Given the description of an element on the screen output the (x, y) to click on. 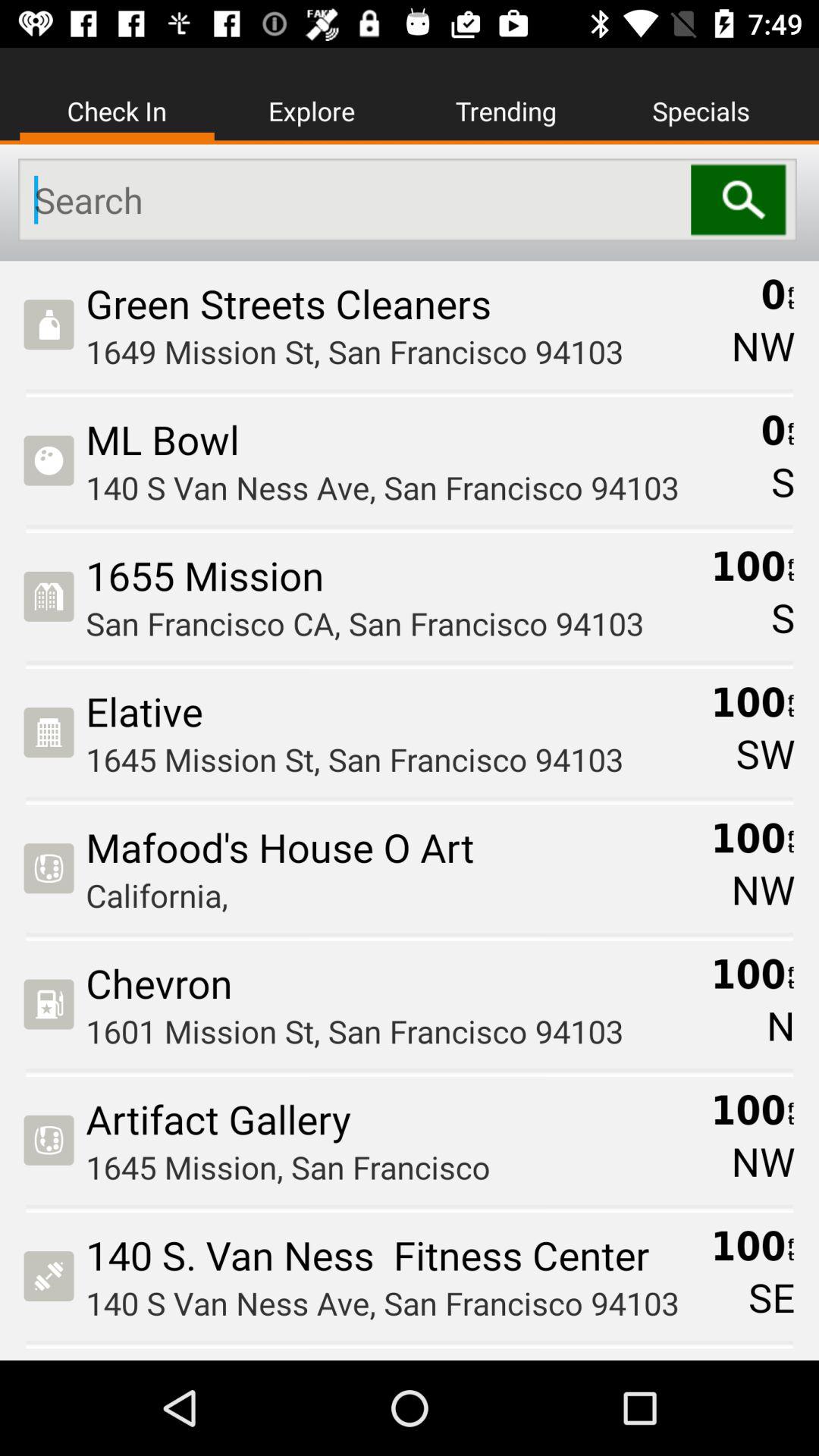
press the se (771, 1296)
